Given the description of an element on the screen output the (x, y) to click on. 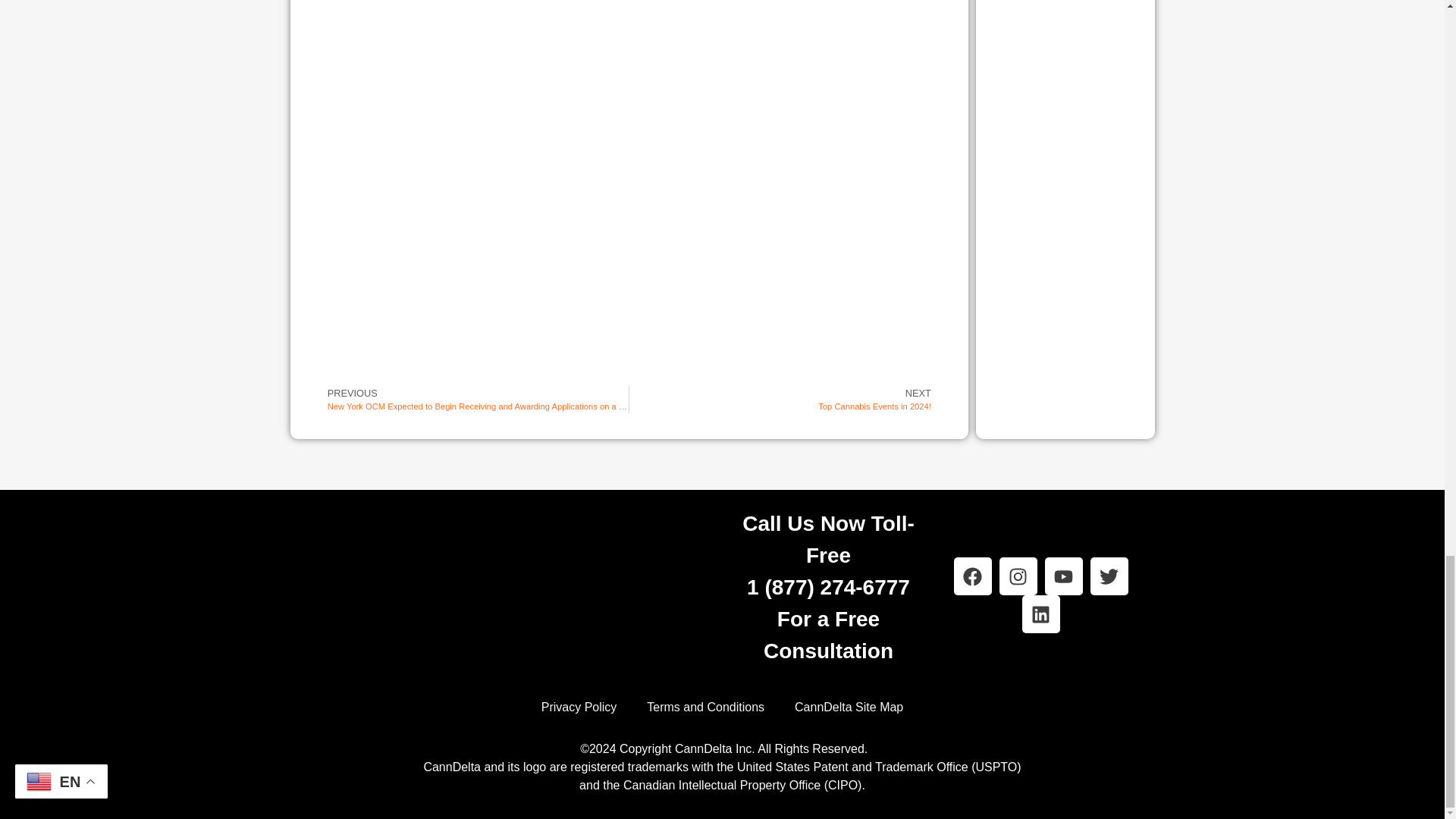
CannDelta-Logo 2022-Revised Tag-KO (403, 595)
